Given the description of an element on the screen output the (x, y) to click on. 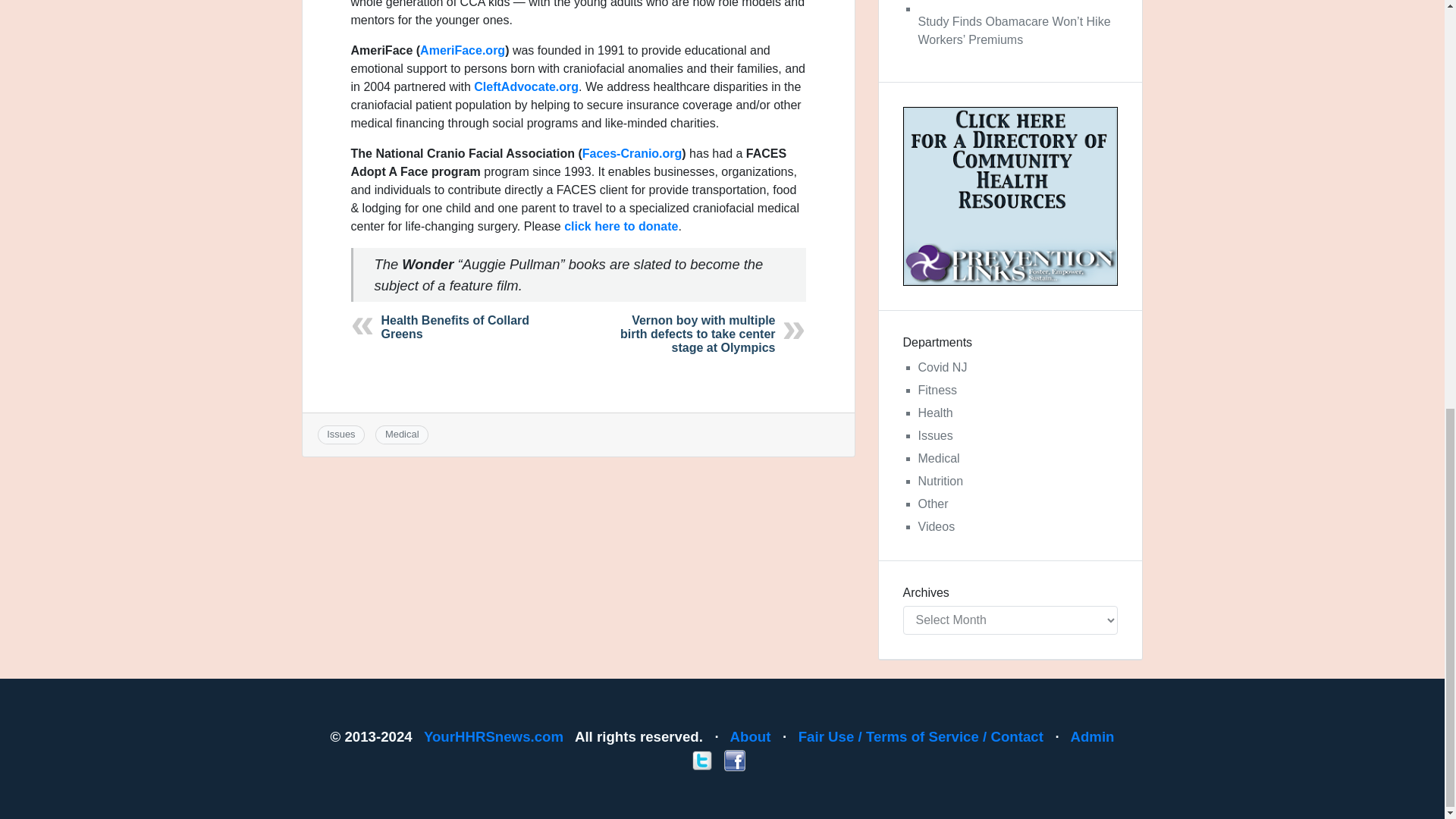
CleftAdvocate.org (526, 86)
click here to donate (621, 226)
Medical (402, 433)
Issues (340, 433)
Health Benefits of Collard Greens (454, 326)
Faces-Cranio.org (632, 153)
AmeriFace.org (462, 50)
